Given the description of an element on the screen output the (x, y) to click on. 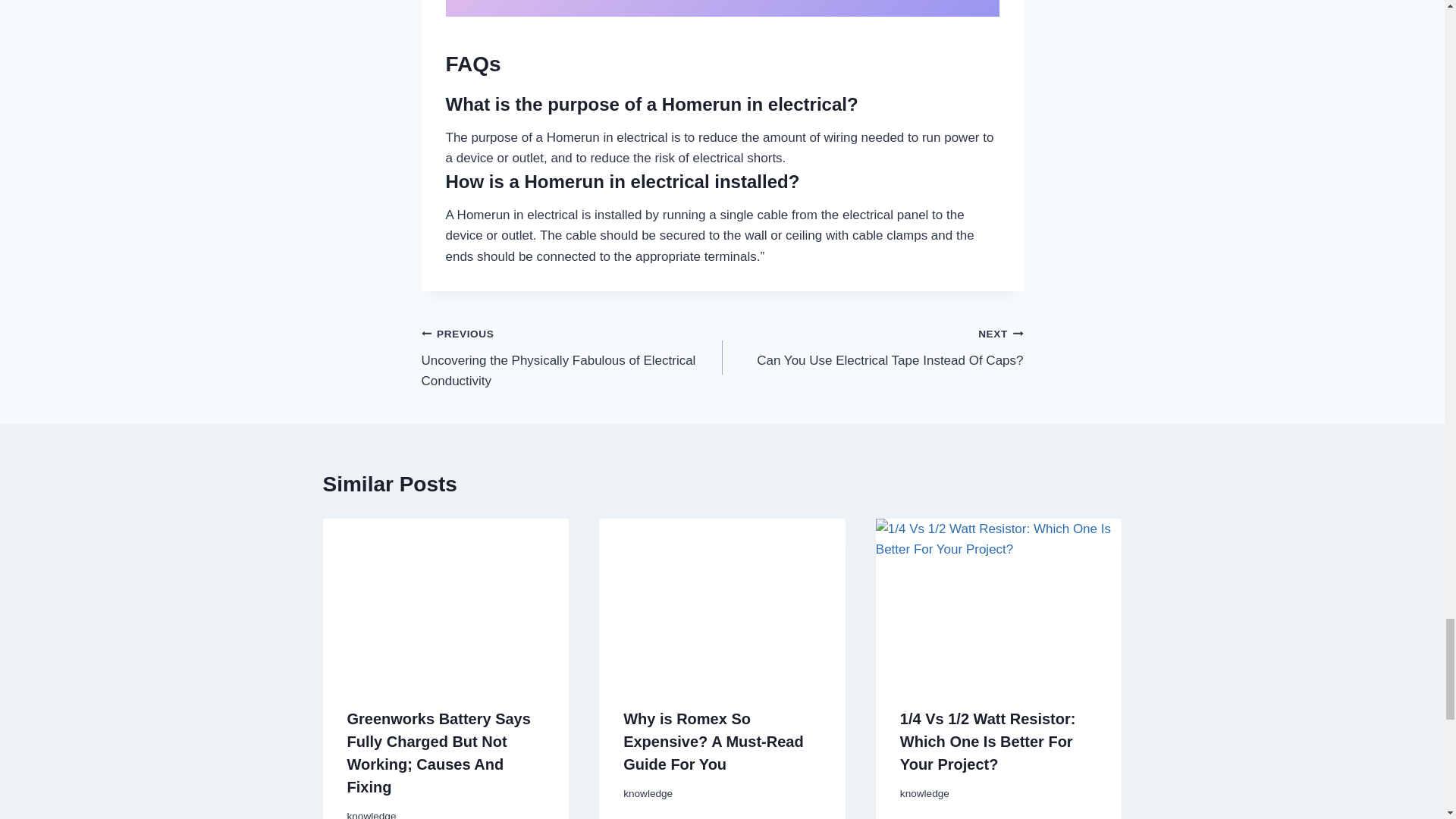
knowledge (371, 814)
